Given the description of an element on the screen output the (x, y) to click on. 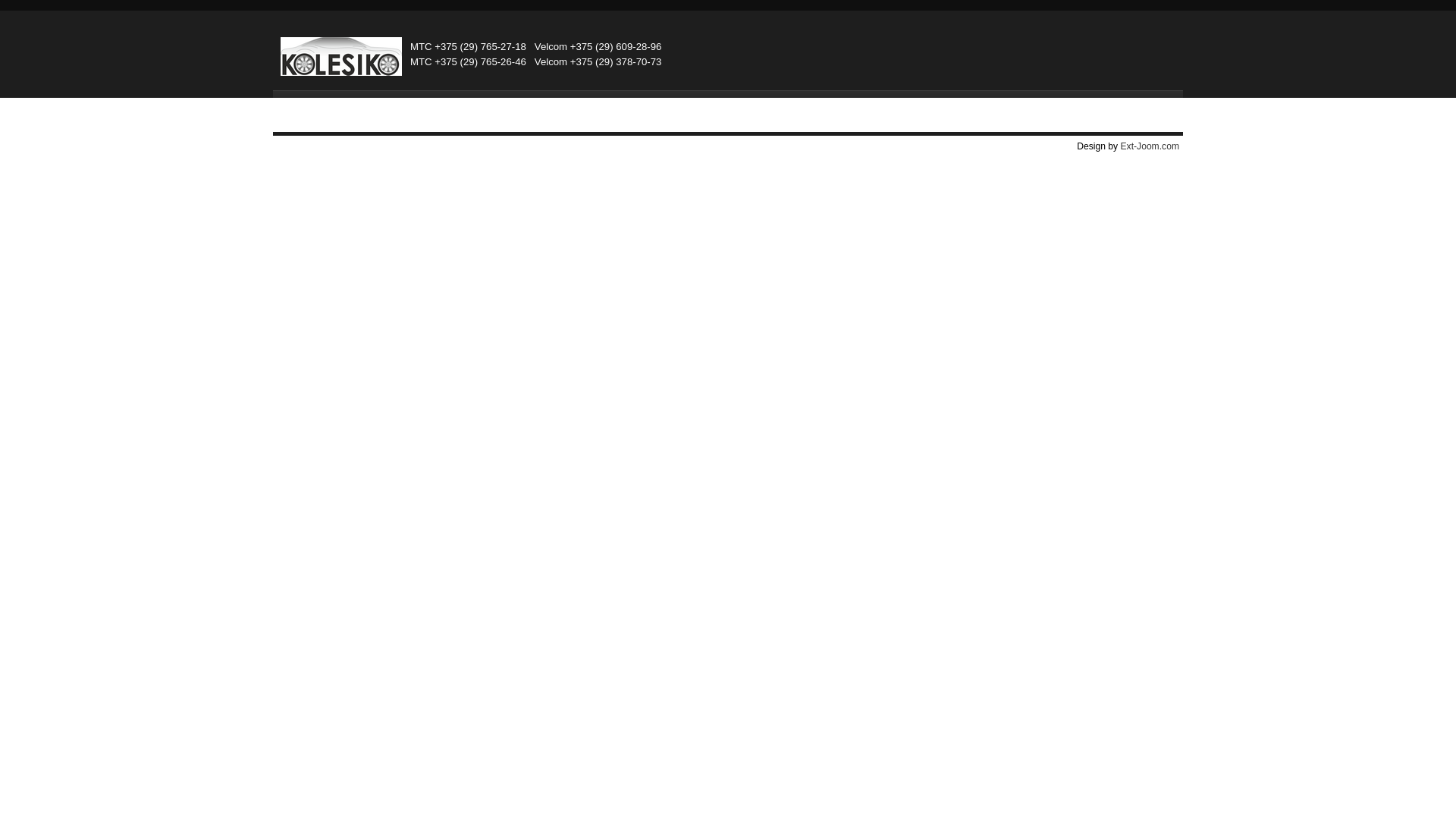
Powered By T3 Framework Element type: text (727, 169)
Ext-Joom.com Element type: text (1149, 146)
